Given the description of an element on the screen output the (x, y) to click on. 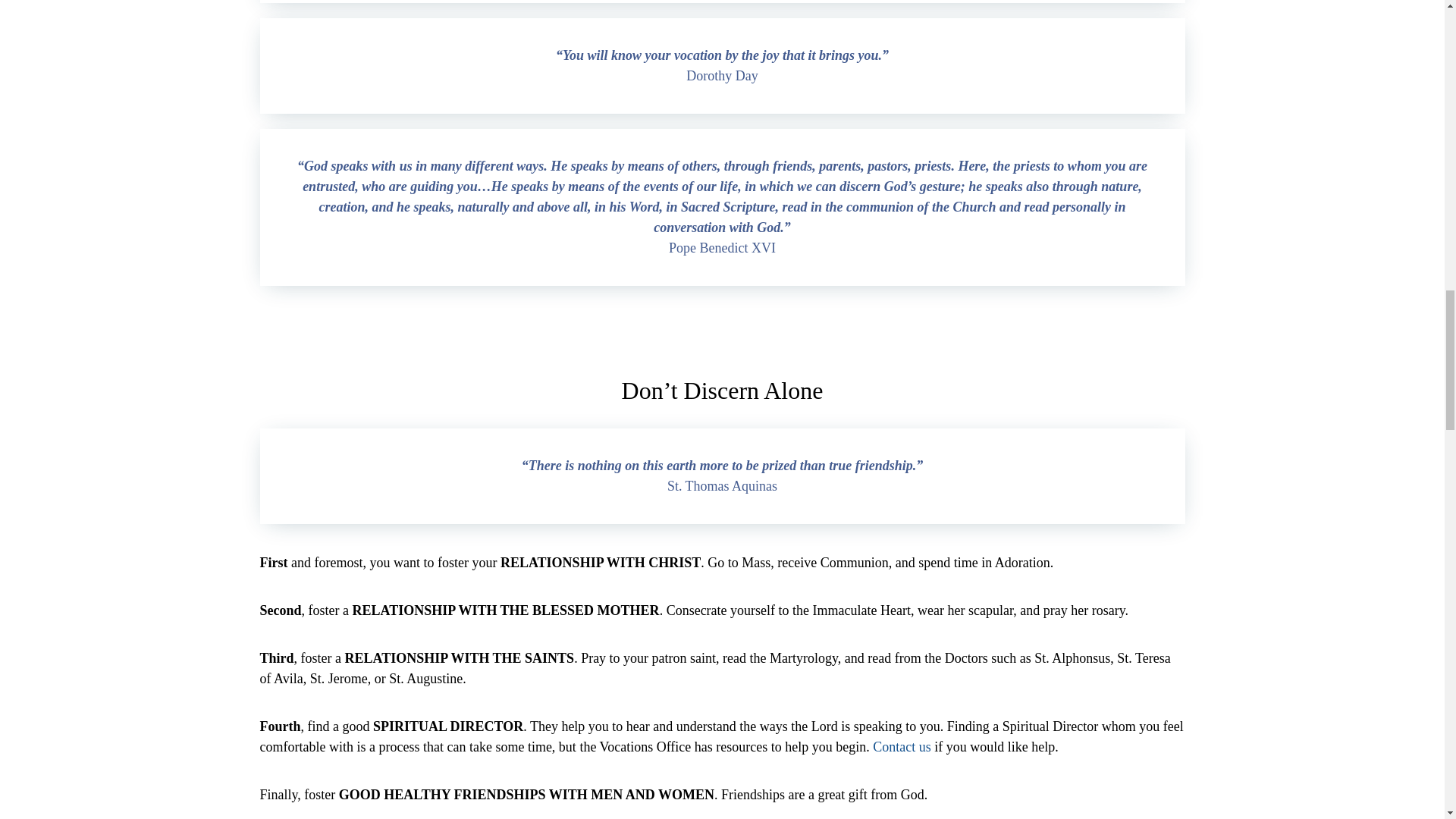
Contact us (901, 746)
